Given the description of an element on the screen output the (x, y) to click on. 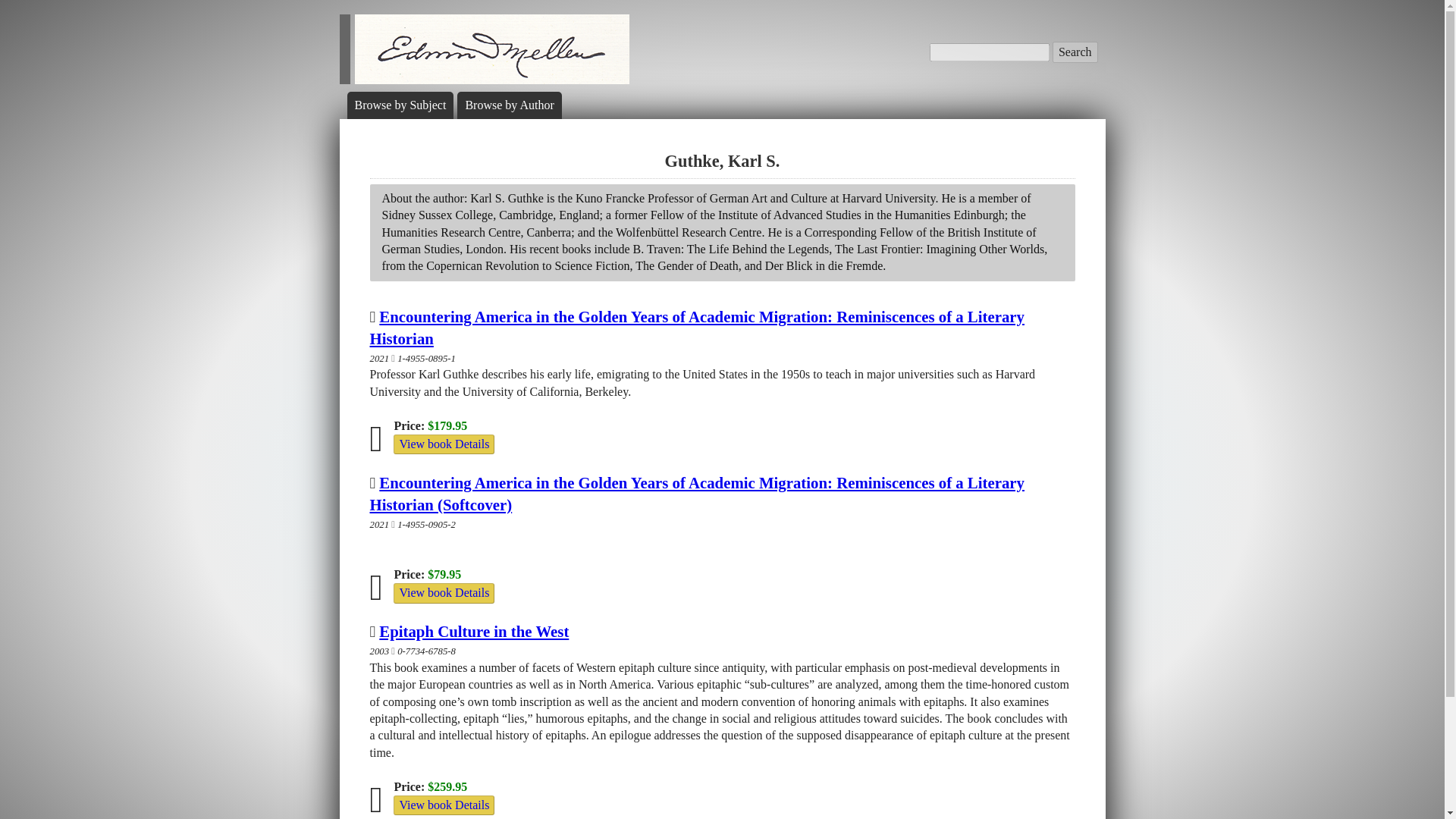
Epitaph Culture in the West (473, 630)
Search (1074, 52)
View book Details (444, 592)
View book Details (444, 804)
View book Details (444, 804)
View book Details (444, 444)
View book Details (444, 443)
Browse by Author (508, 105)
Browse by Subject (400, 105)
View book Details (444, 592)
